Given the description of an element on the screen output the (x, y) to click on. 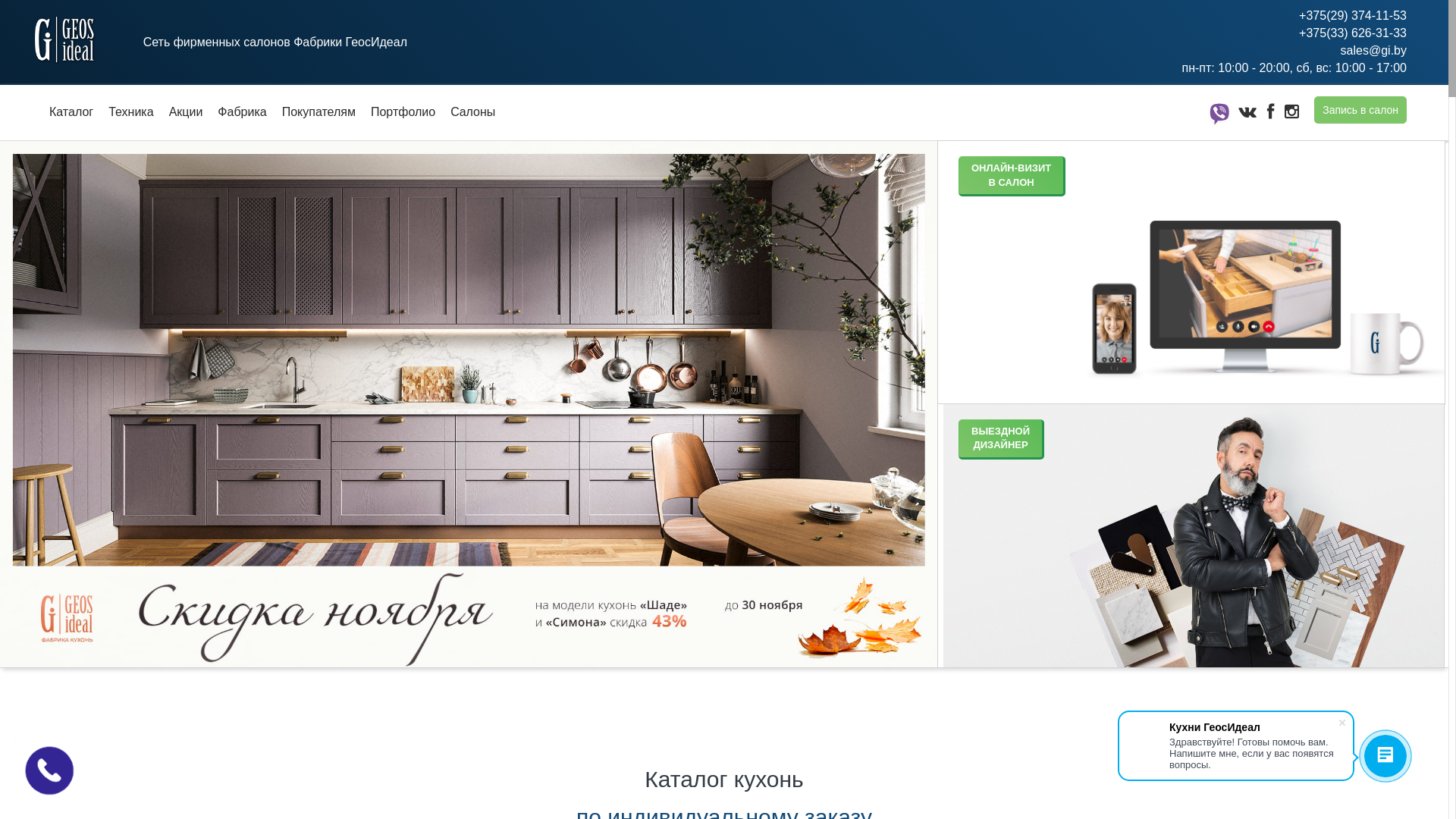
+375(33) 626-31-33 Element type: text (1294, 33)
+375(29) 374-11-53 Element type: text (1294, 16)
sales@gi.by Element type: text (1294, 50)
